Given the description of an element on the screen output the (x, y) to click on. 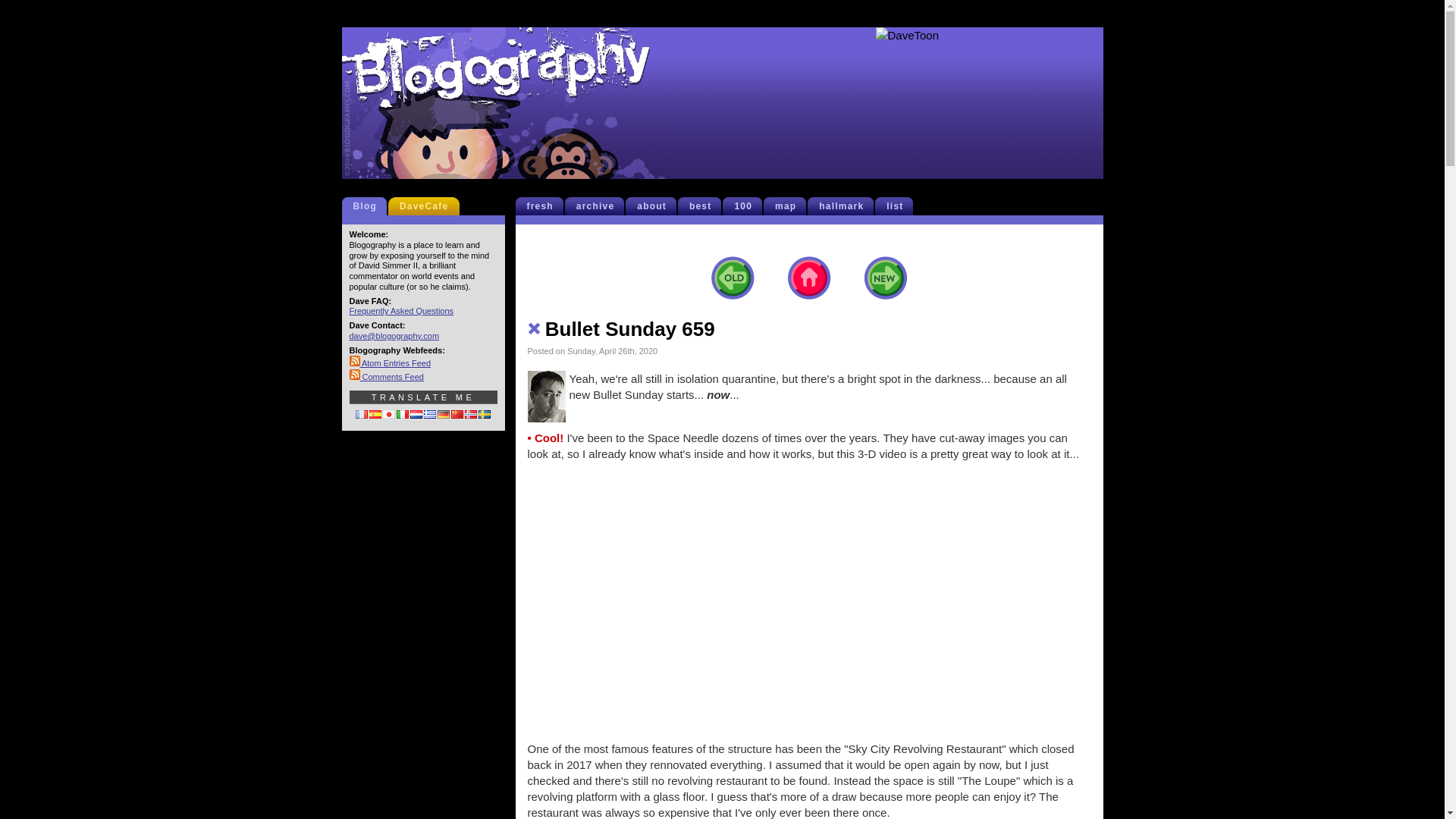
best (703, 206)
fresh (542, 206)
map (789, 206)
archive (599, 206)
about (654, 206)
100 (745, 206)
DaveCafe (427, 206)
Comments Feed (386, 376)
Frequently Asked Questions (400, 310)
Blog (368, 206)
